Given the description of an element on the screen output the (x, y) to click on. 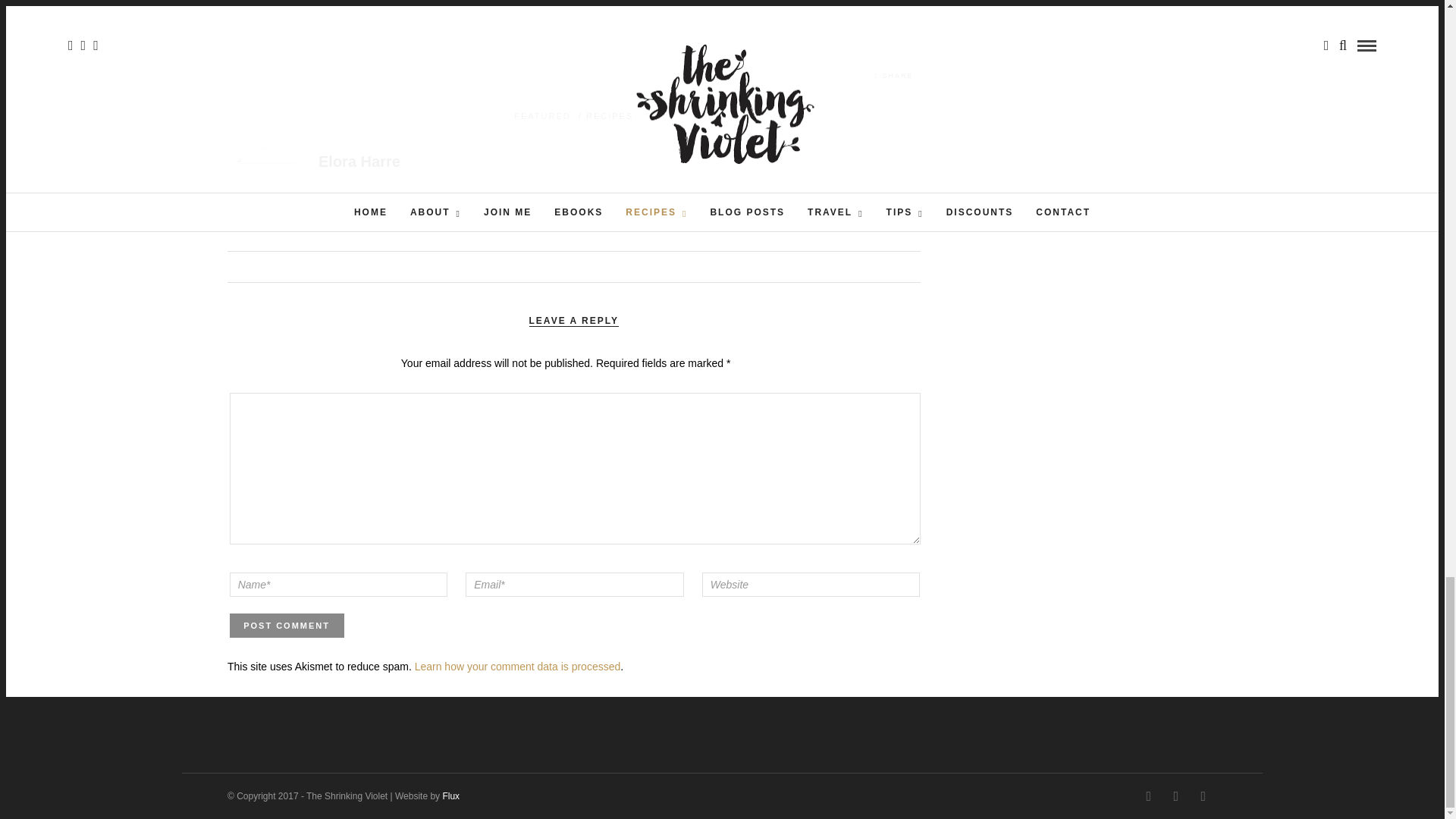
Post Comment (286, 625)
